Given the description of an element on the screen output the (x, y) to click on. 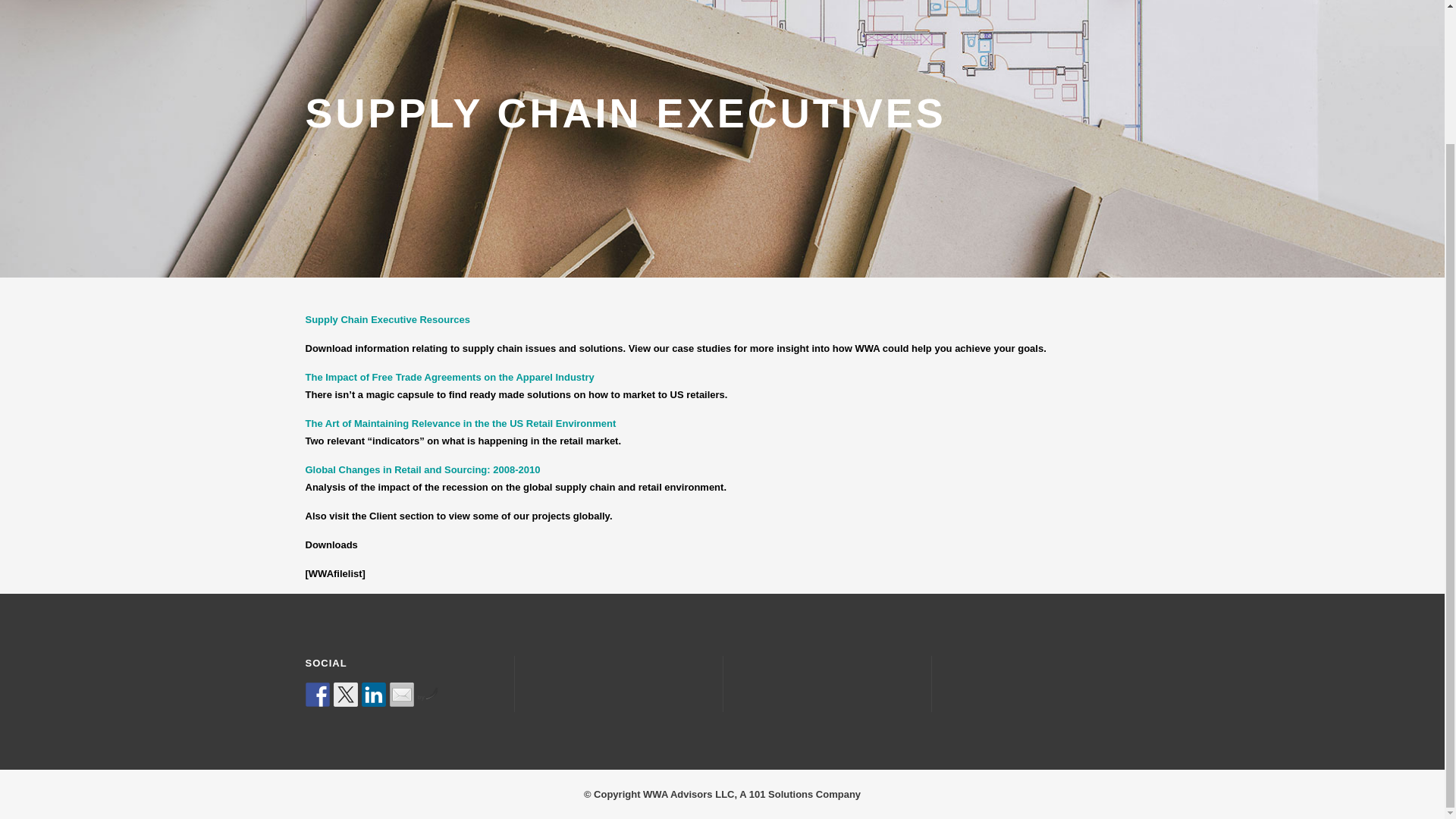
Follow us on Twitter (345, 530)
by (427, 533)
Find us on LinkedIn (373, 530)
Follow us on Facebook! (316, 530)
